Given the description of an element on the screen output the (x, y) to click on. 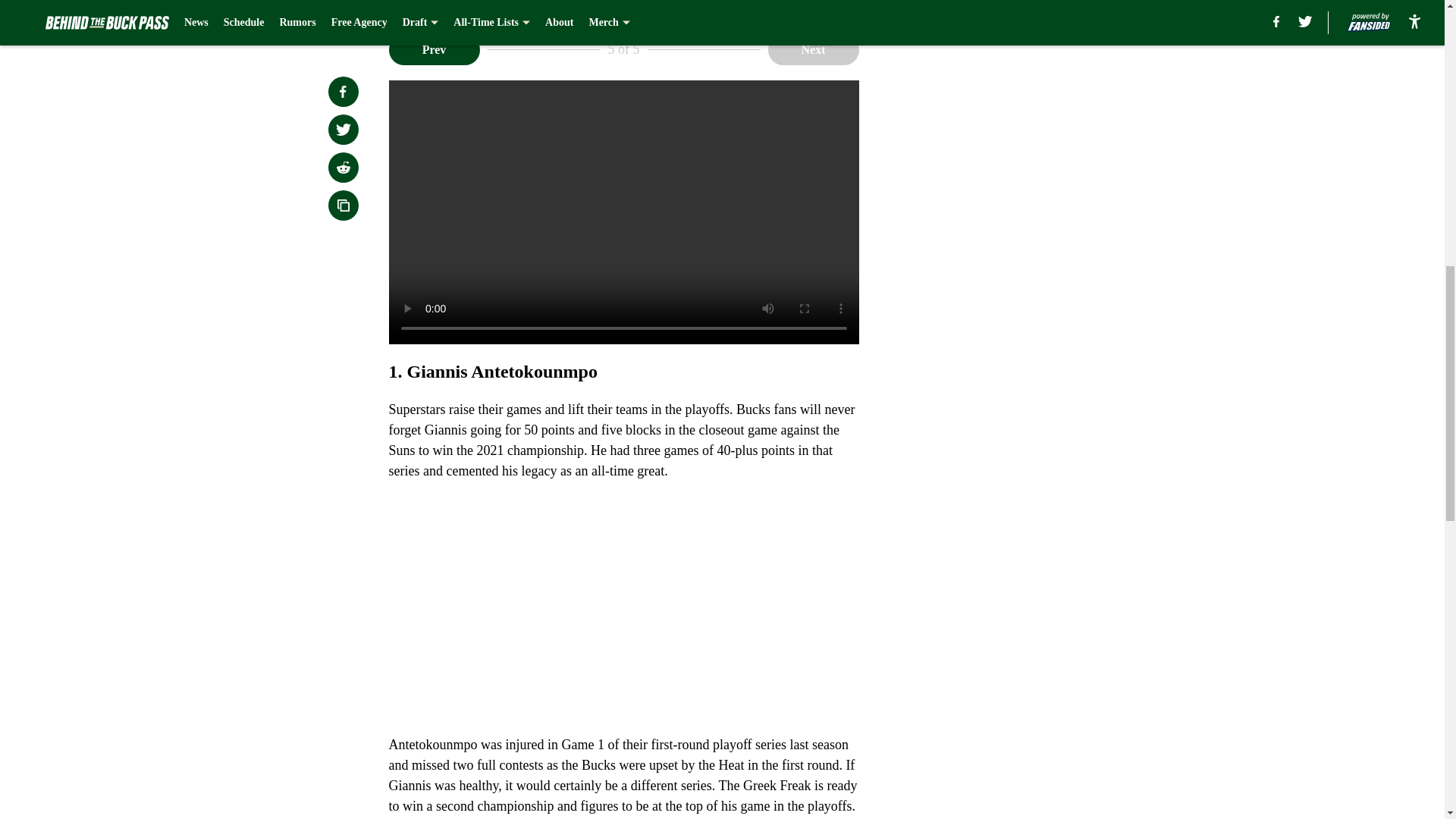
3rd party ad content (1047, 349)
Prev (433, 50)
3rd party ad content (1047, 129)
Next (813, 50)
